Given the description of an element on the screen output the (x, y) to click on. 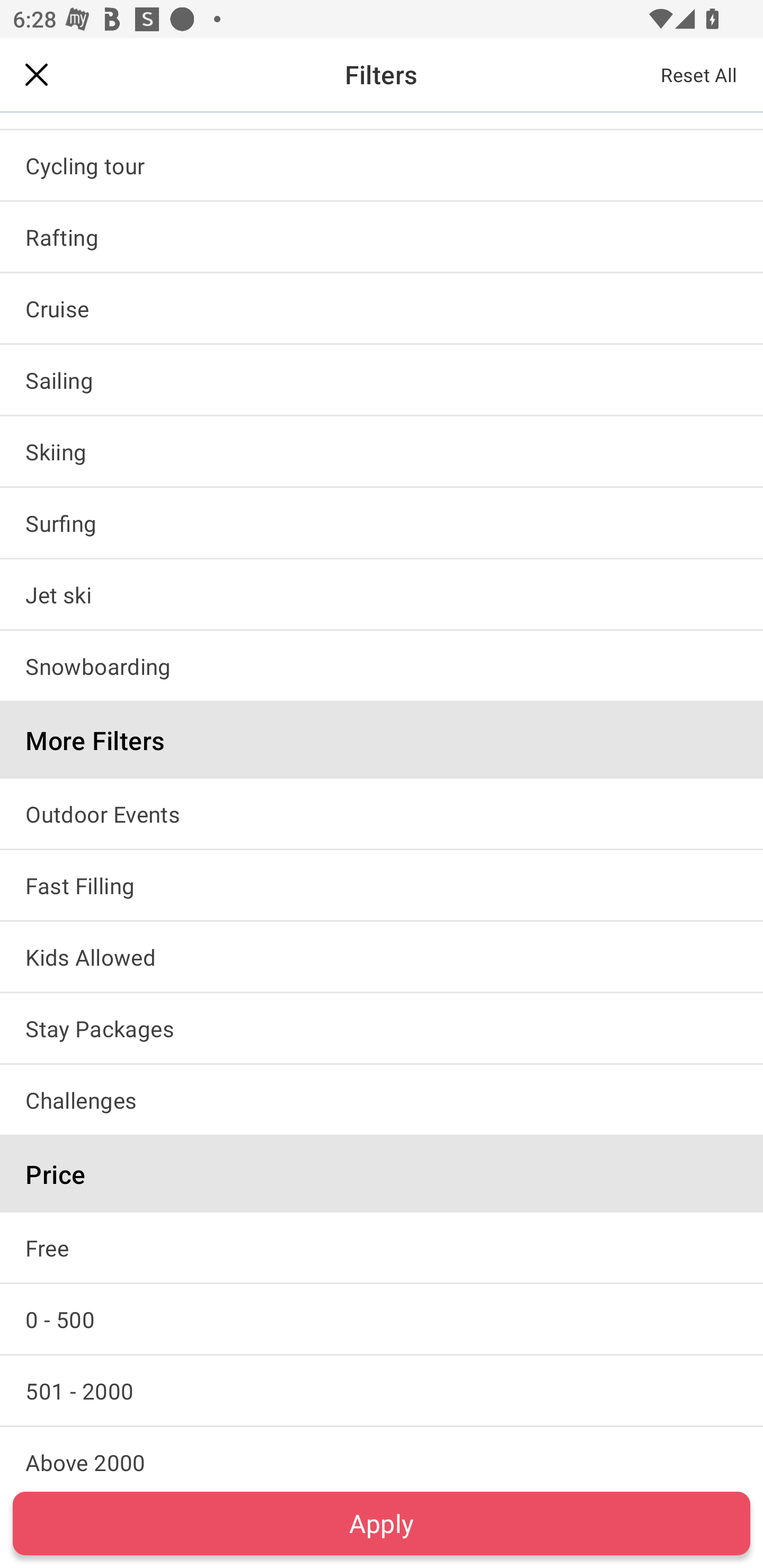
Close (36, 74)
Reset All (699, 74)
Cycling tour (381, 165)
Rafting (381, 236)
Cruise (381, 307)
Sailing (381, 379)
Skiing (381, 451)
Surfing (381, 522)
Jet ski (381, 593)
Snowboarding (381, 665)
Outdoor Events (381, 813)
Fast Filling (381, 884)
Kids Allowed (381, 955)
Stay Packages (381, 1027)
Challenges (381, 1099)
Free (381, 1247)
0 - 500 (381, 1319)
501 - 2000 (381, 1390)
Above 2000 (381, 1452)
Apply (381, 1523)
